Given the description of an element on the screen output the (x, y) to click on. 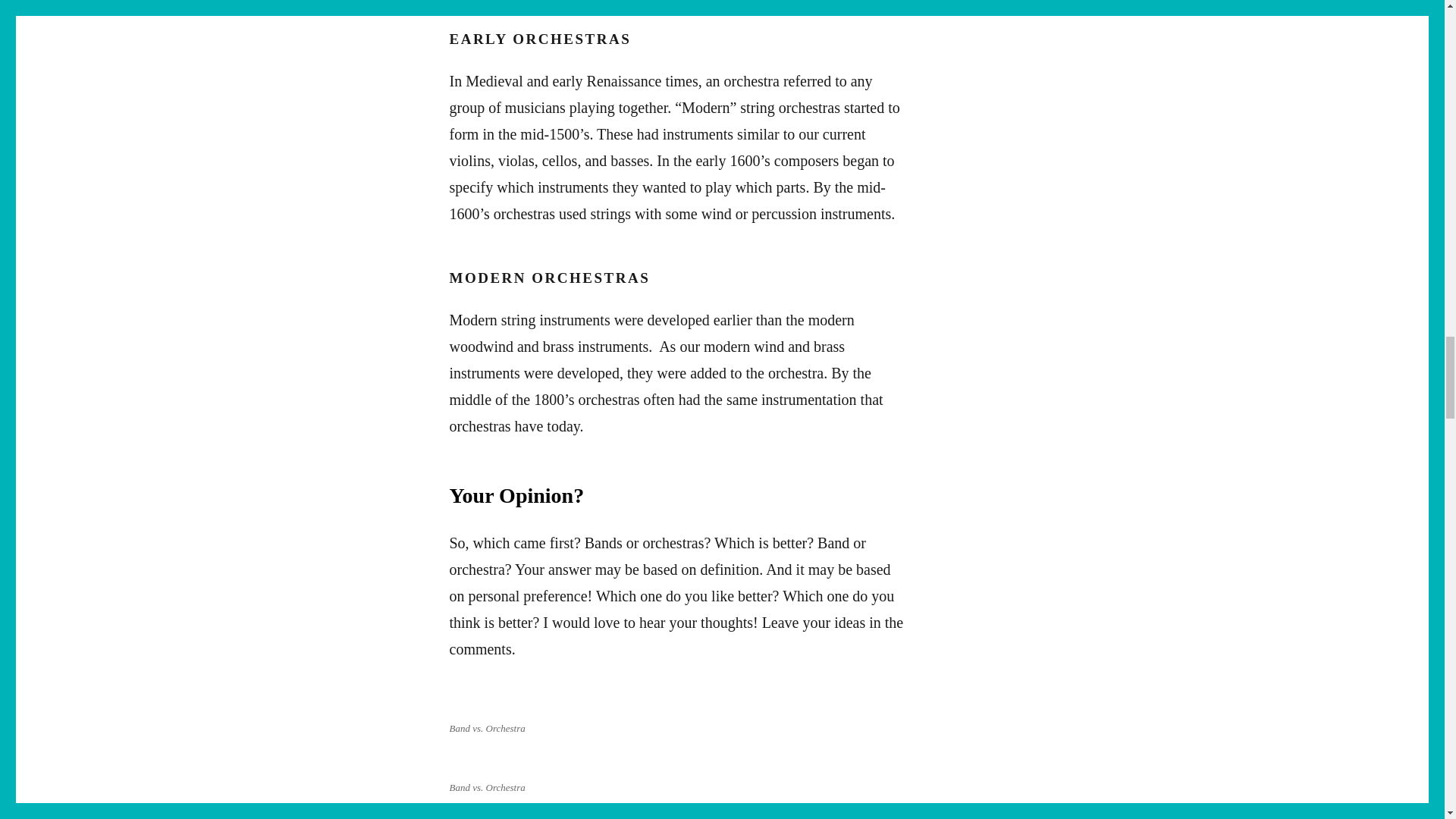
Facebook (463, 813)
Pinterest (494, 813)
Pinterest (494, 813)
Facebook (463, 813)
